Given the description of an element on the screen output the (x, y) to click on. 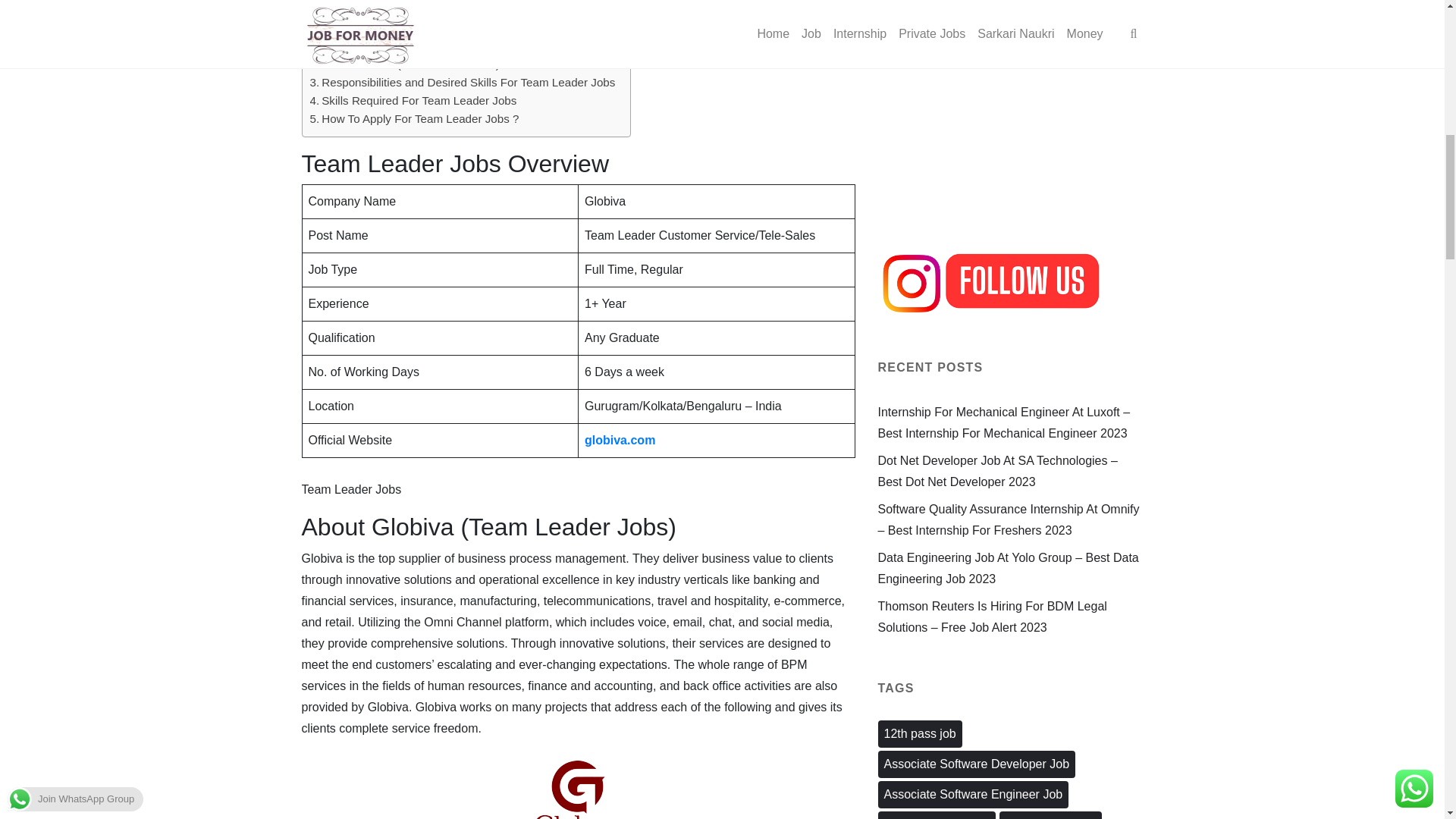
How To Apply For Team Leader Jobs ? (413, 118)
globiva.com (620, 440)
Team Leader Jobs Overview (387, 45)
Skills Required For Team Leader Jobs (412, 100)
Team Leader Jobs Overview (387, 45)
Skills Required For Team Leader Jobs (412, 100)
Responsibilities and Desired Skills For Team Leader Jobs (461, 82)
Responsibilities and Desired Skills For Team Leader Jobs (461, 82)
How To Apply For Team Leader Jobs ? (413, 118)
